Given the description of an element on the screen output the (x, y) to click on. 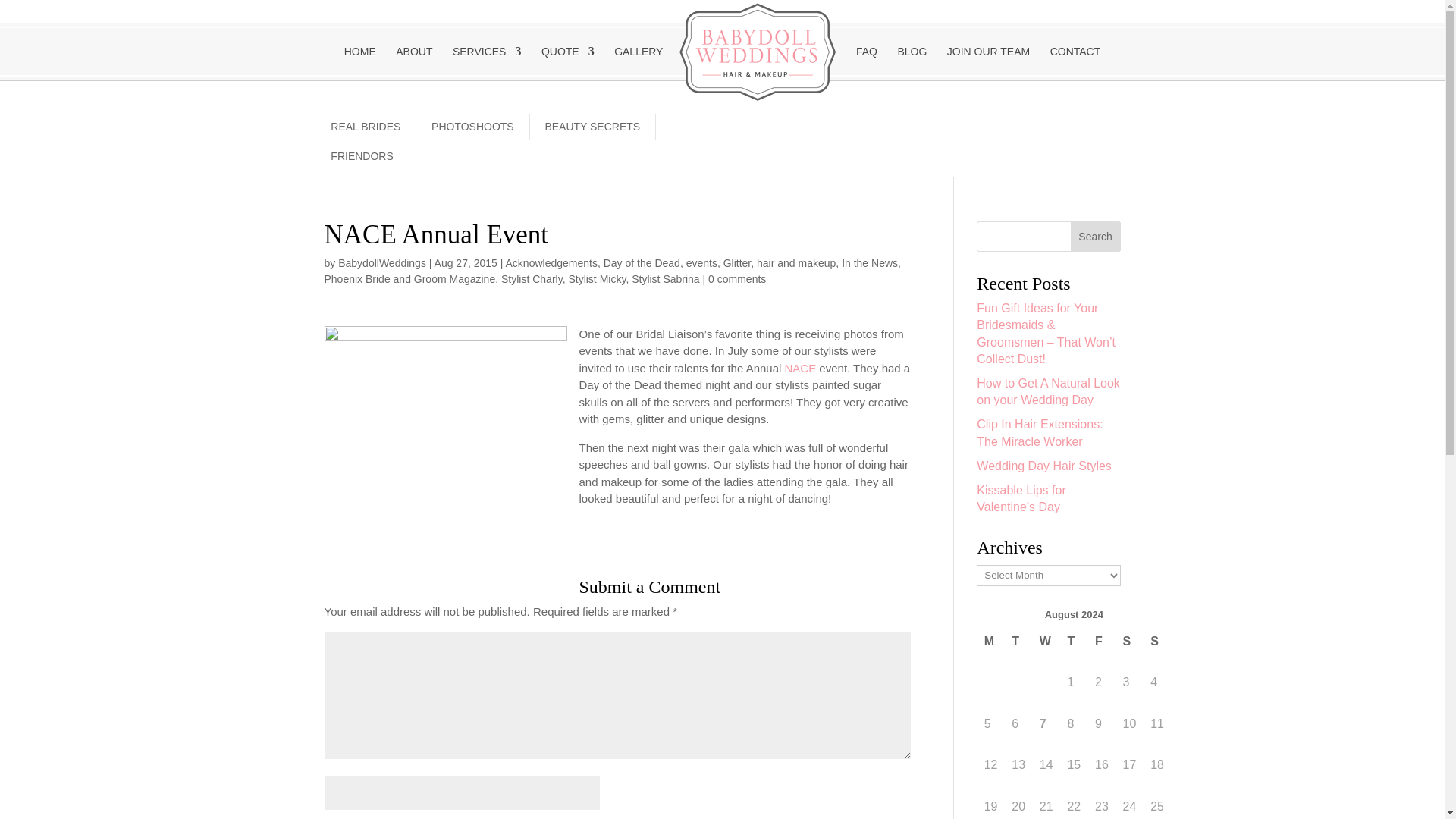
HOME (359, 60)
BLOG (911, 60)
JOIN OUR TEAM (988, 60)
Posts by BabydollWeddings (381, 263)
Day of the Dead (641, 263)
SERVICES (486, 60)
REAL BRIDES (365, 126)
QUOTE (567, 60)
BEAUTY SECRETS (592, 126)
CONTACT (1074, 60)
Acknowledgements (550, 263)
BabydollWeddings (381, 263)
FRIENDORS (361, 155)
GALLERY (638, 60)
PHOTOSHOOTS (472, 126)
